Given the description of an element on the screen output the (x, y) to click on. 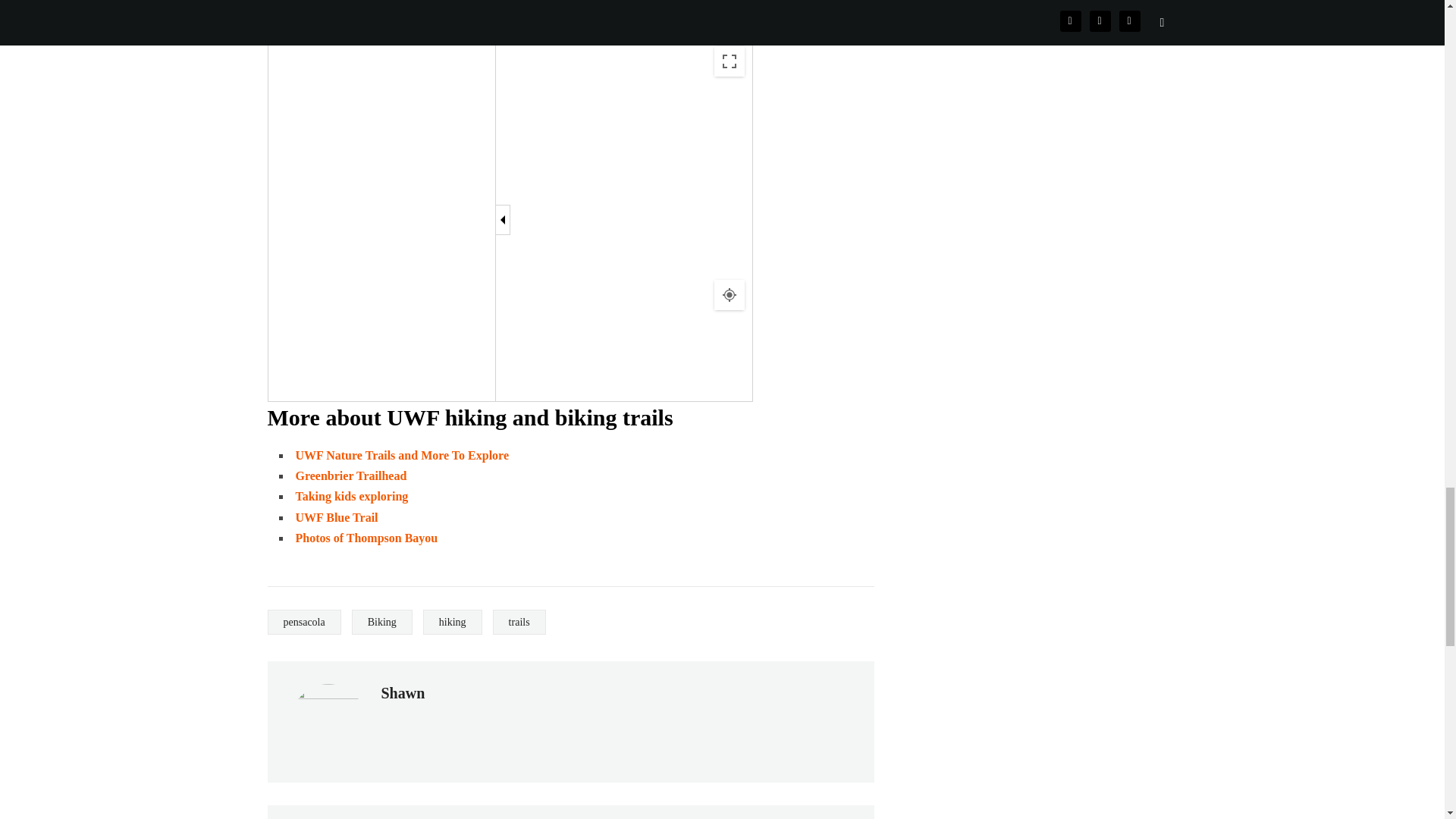
Posts by Shawn (402, 692)
Toggle fullscreen view (729, 60)
Your Location (729, 295)
